Given the description of an element on the screen output the (x, y) to click on. 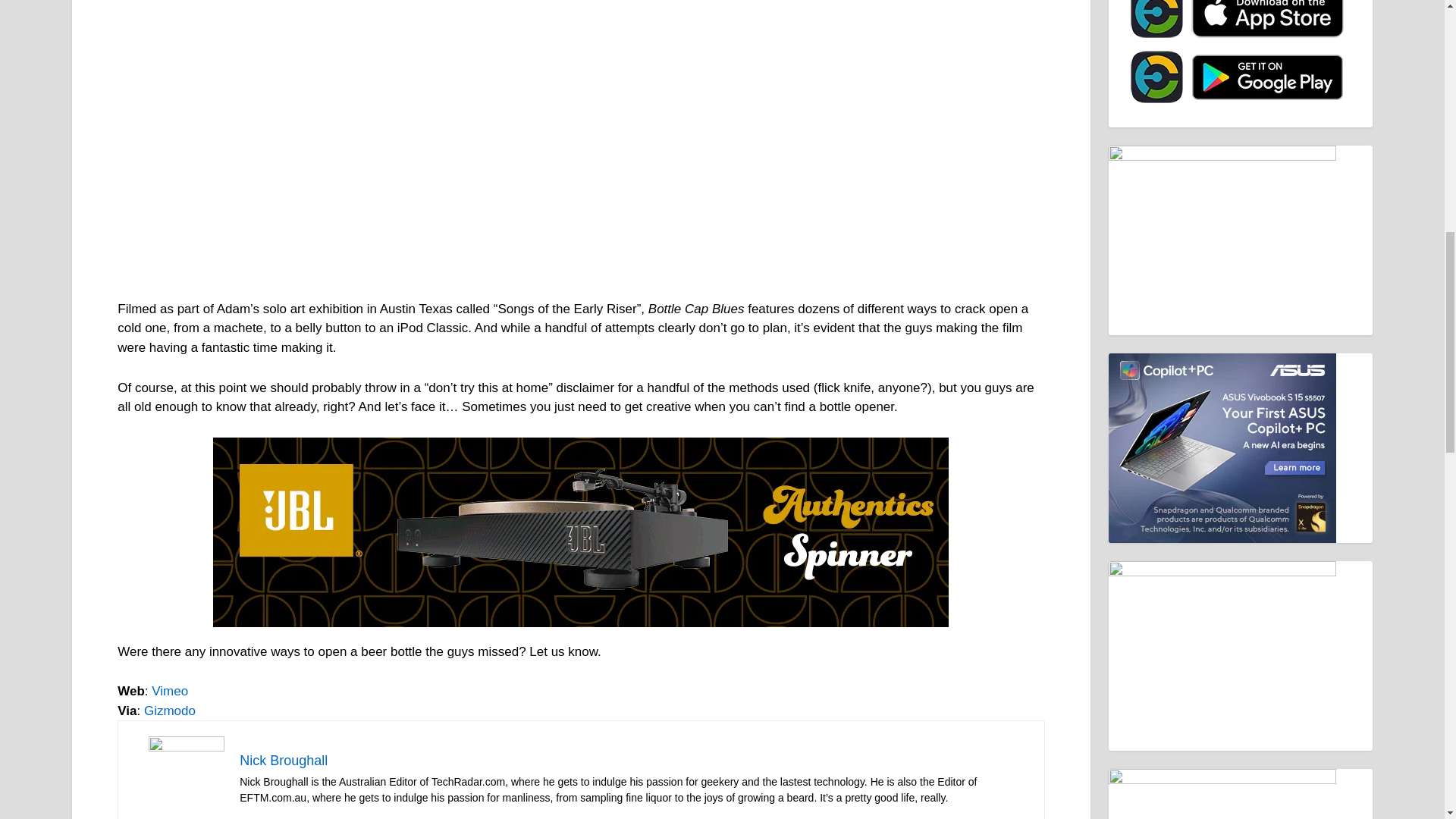
Gizmodo (169, 710)
Nick Broughall (283, 760)
Vimeo (169, 690)
